Given the description of an element on the screen output the (x, y) to click on. 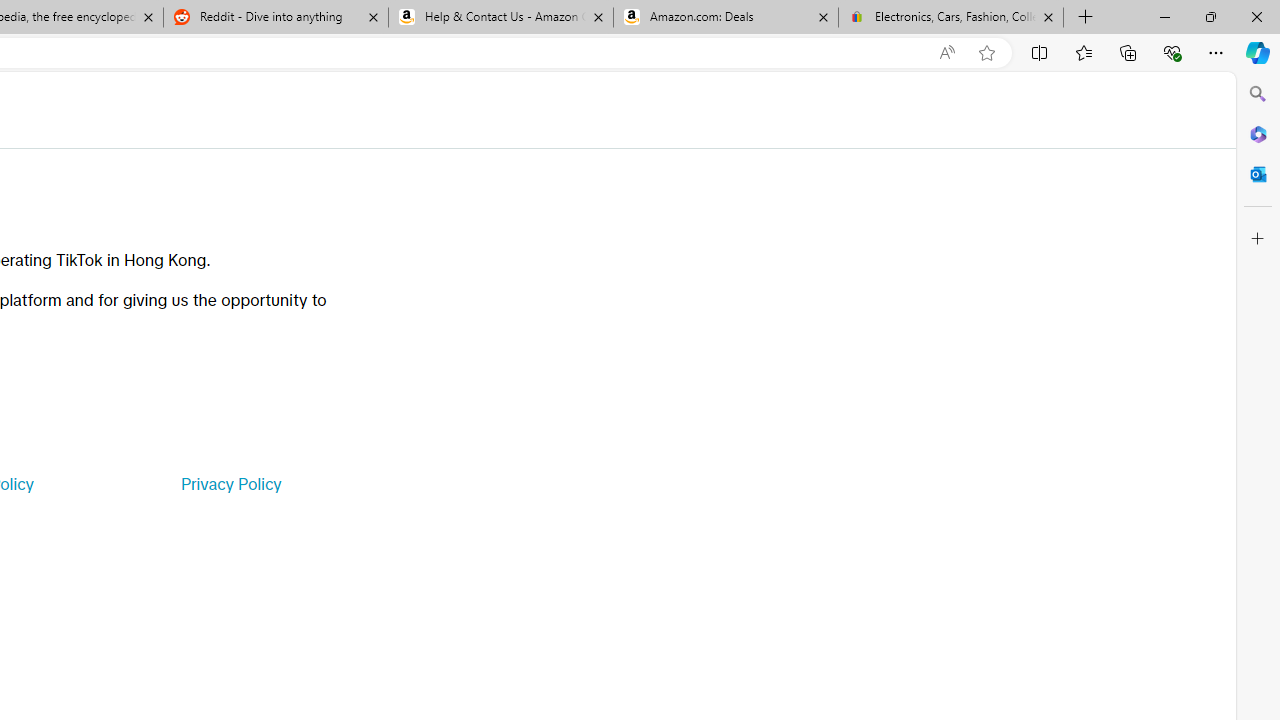
Close Outlook pane (1258, 174)
